Given the description of an element on the screen output the (x, y) to click on. 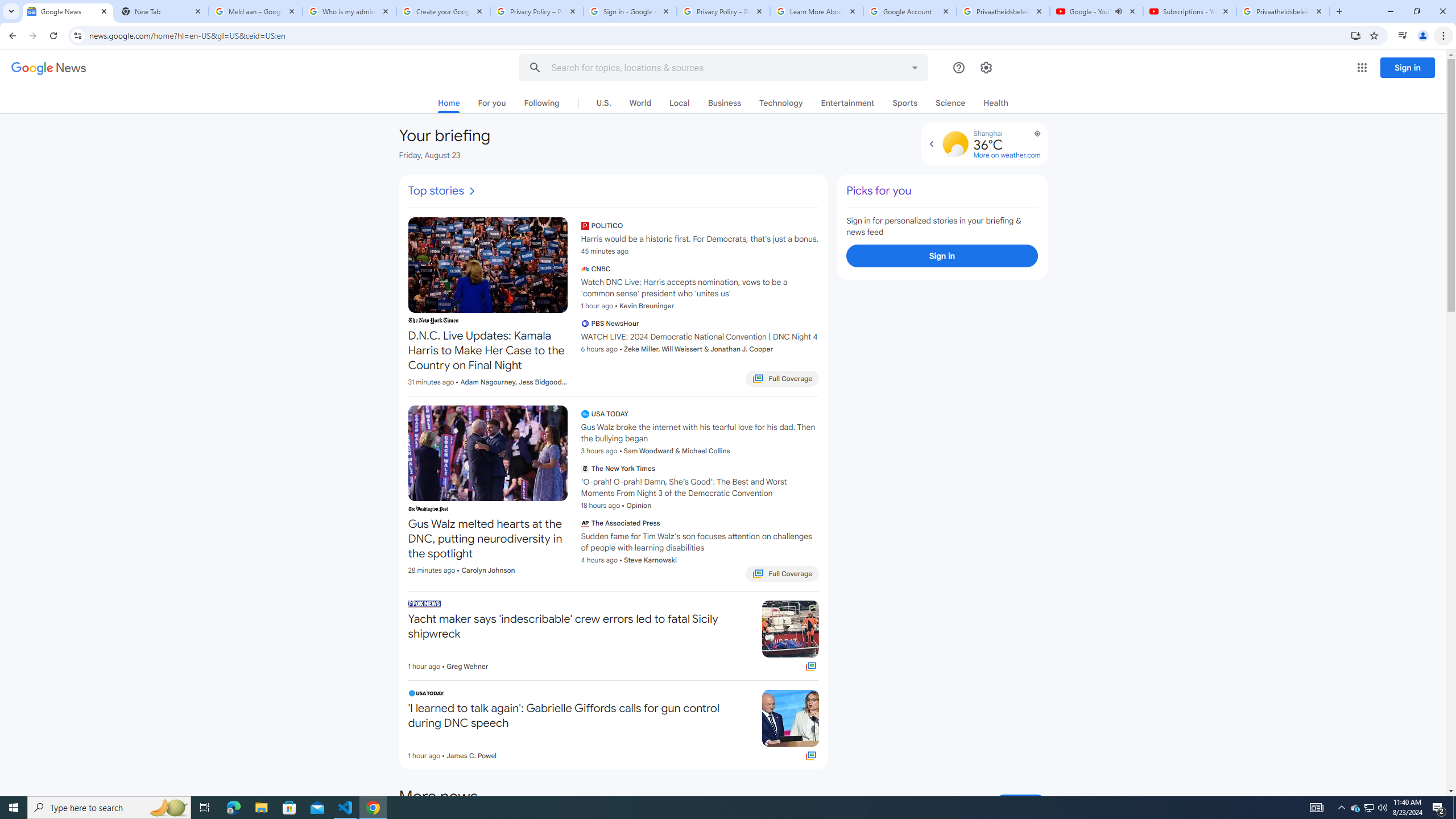
Home (449, 105)
World (639, 102)
Advanced search (914, 65)
Local (679, 102)
Health (995, 102)
